Given the description of an element on the screen output the (x, y) to click on. 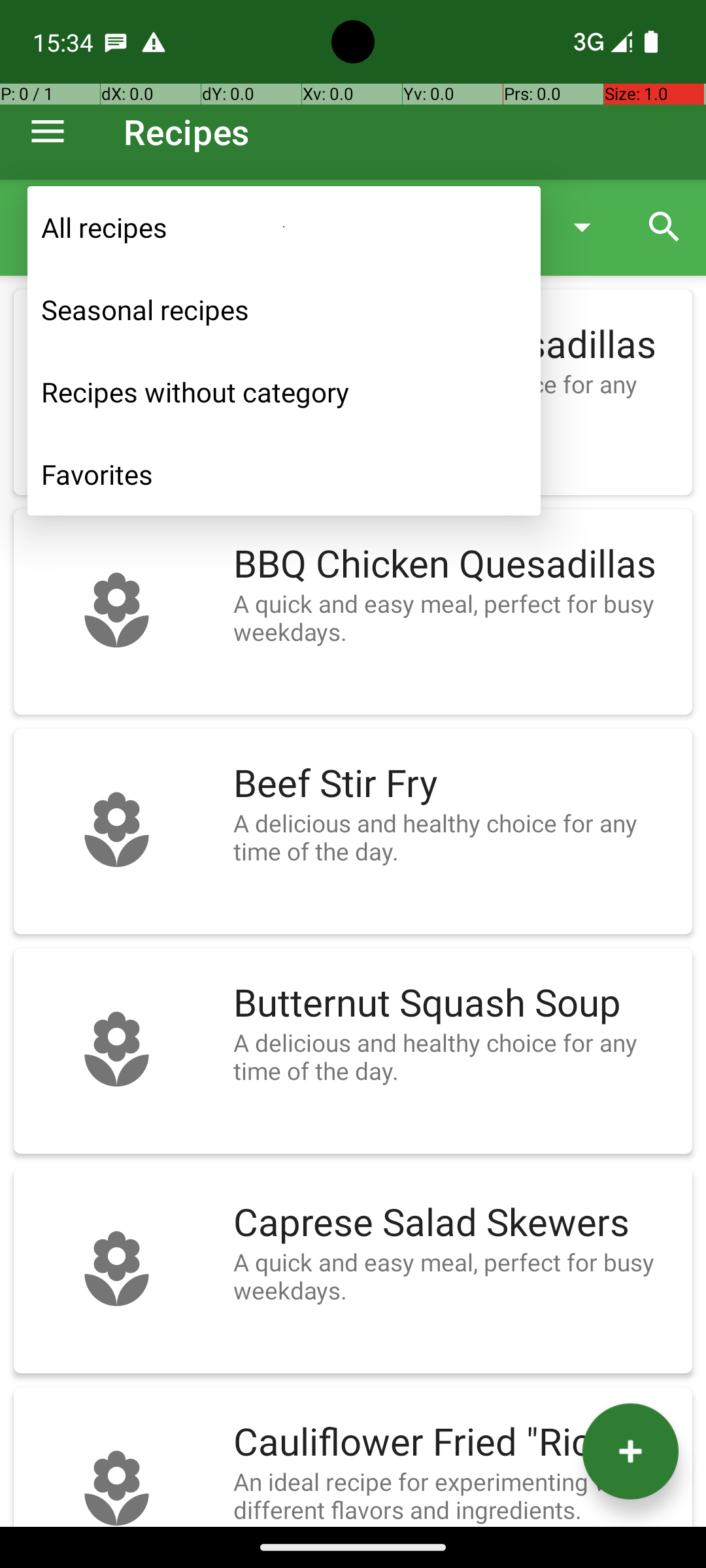
All recipes Element type: android.widget.CheckedTextView (283, 227)
Seasonal recipes Element type: android.widget.CheckedTextView (283, 309)
Recipes without category Element type: android.widget.CheckedTextView (283, 391)
Favorites Element type: android.widget.CheckedTextView (283, 474)
